Given the description of an element on the screen output the (x, y) to click on. 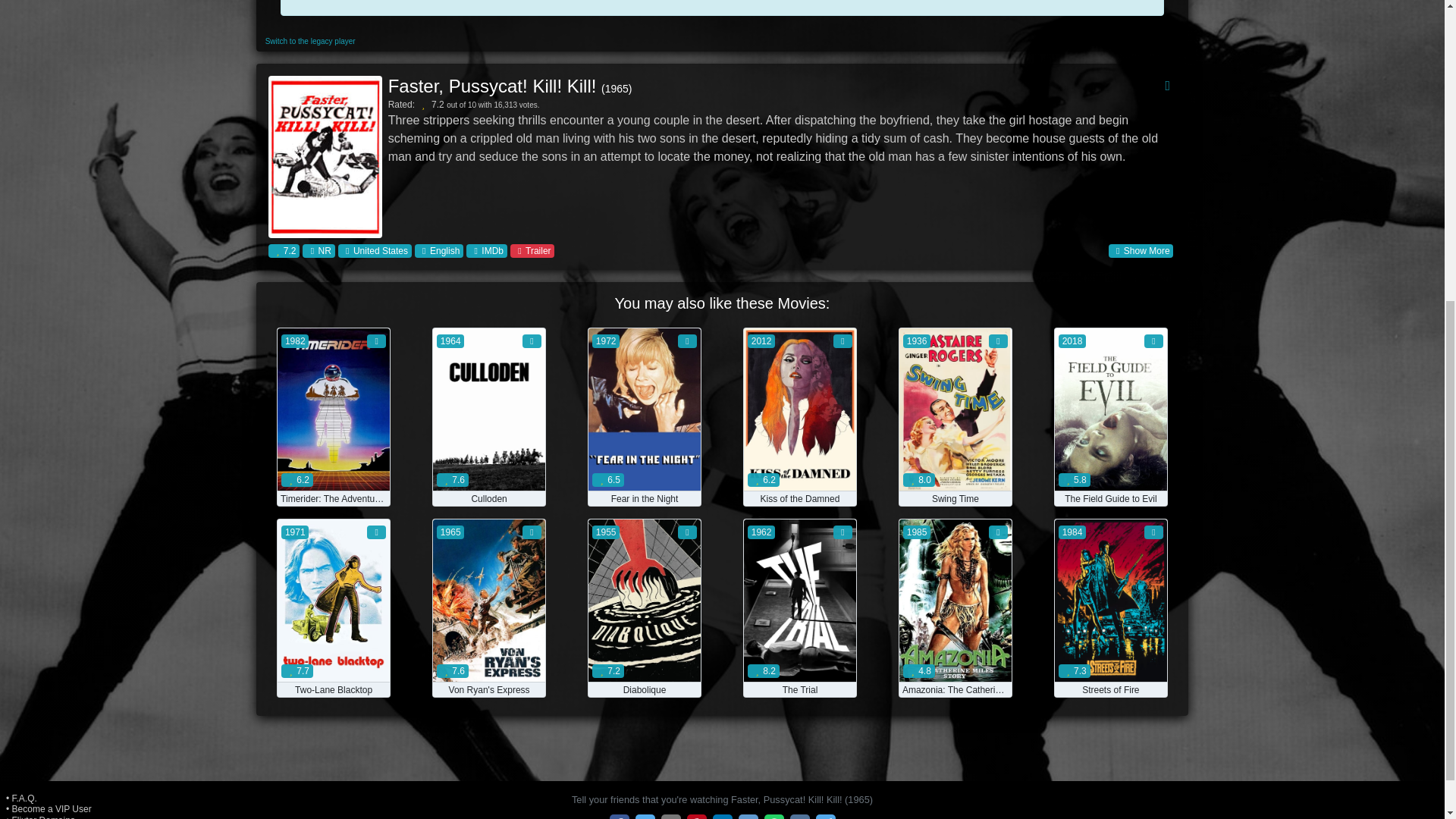
Watch YouTube Trailer (532, 250)
Watch Now (488, 659)
Rated: 6.2 out of 10 with 2,540 votes. (332, 498)
Watch Now (1110, 659)
Download (379, 498)
Watch Now (333, 659)
Watch Now (644, 659)
Watch Now (1110, 468)
Watch Now (955, 659)
Watch Now (488, 468)
